Given the description of an element on the screen output the (x, y) to click on. 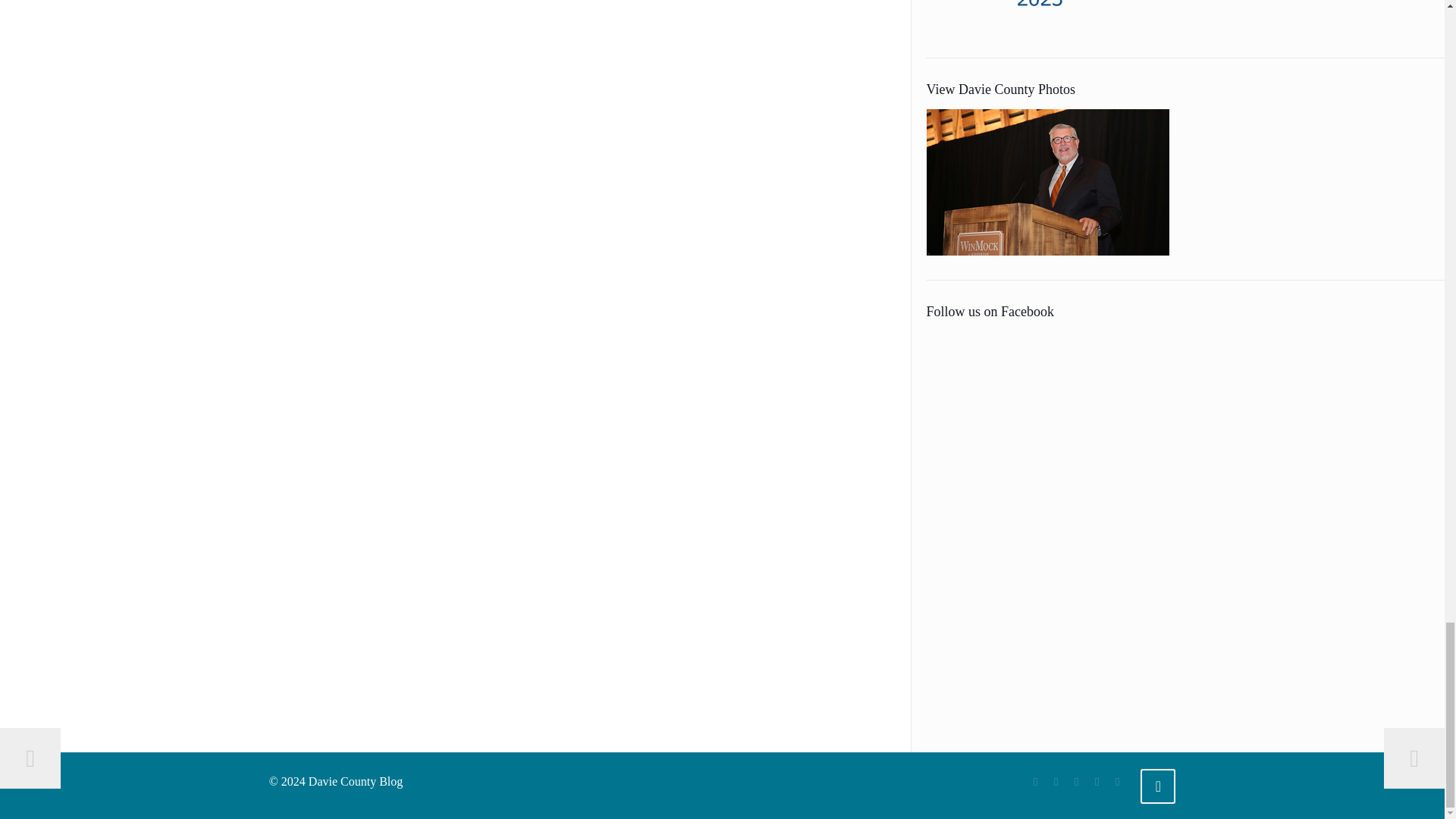
Flickr (1076, 781)
Twitter (1056, 781)
Facebook (1035, 781)
RSS (1097, 781)
